Given the description of an element on the screen output the (x, y) to click on. 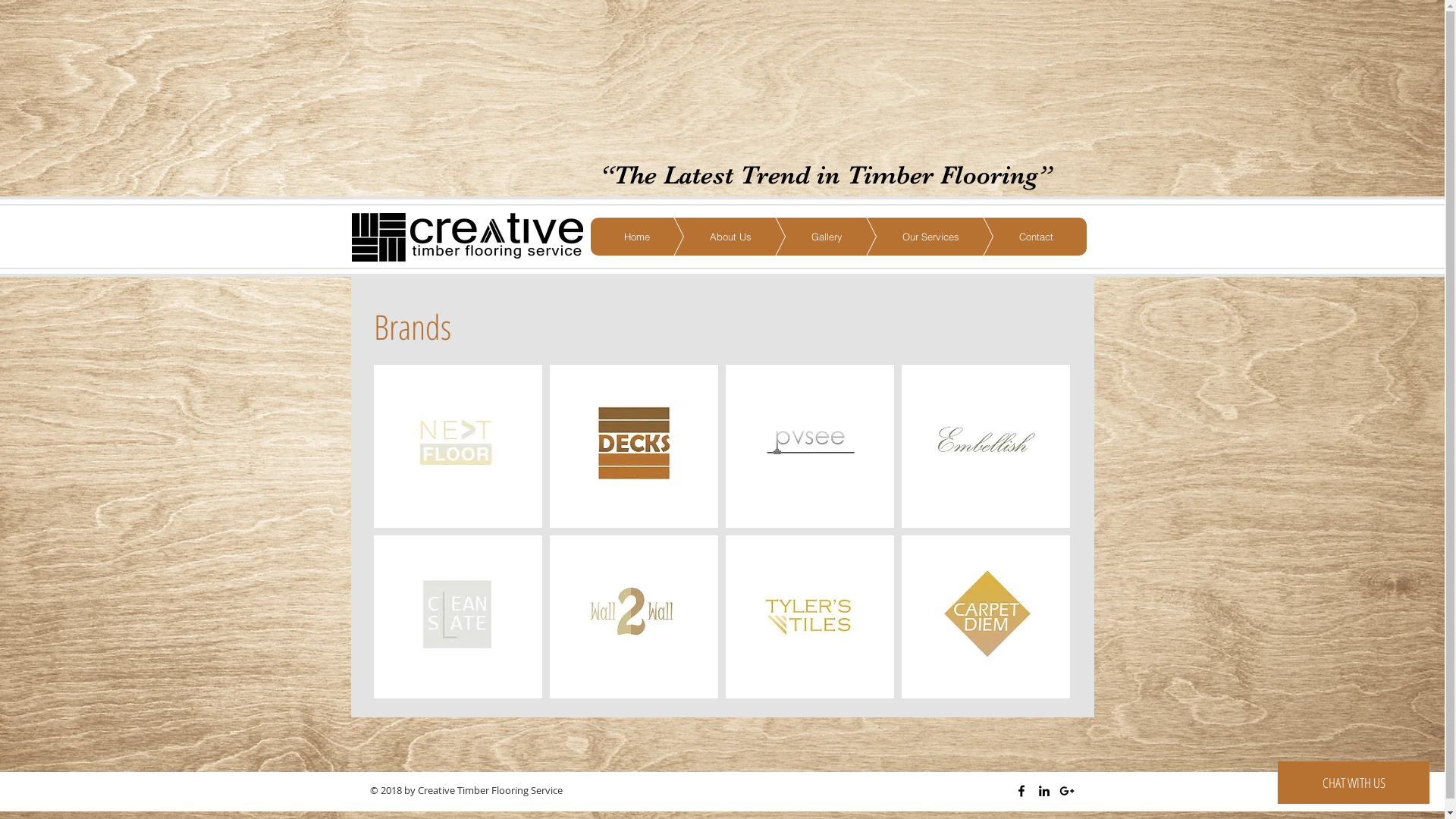
Home Element type: text (635, 236)
About Us Element type: text (707, 236)
Our Services Element type: text (907, 236)
Contact Element type: text (1013, 236)
Gallery Element type: text (803, 236)
